Given the description of an element on the screen output the (x, y) to click on. 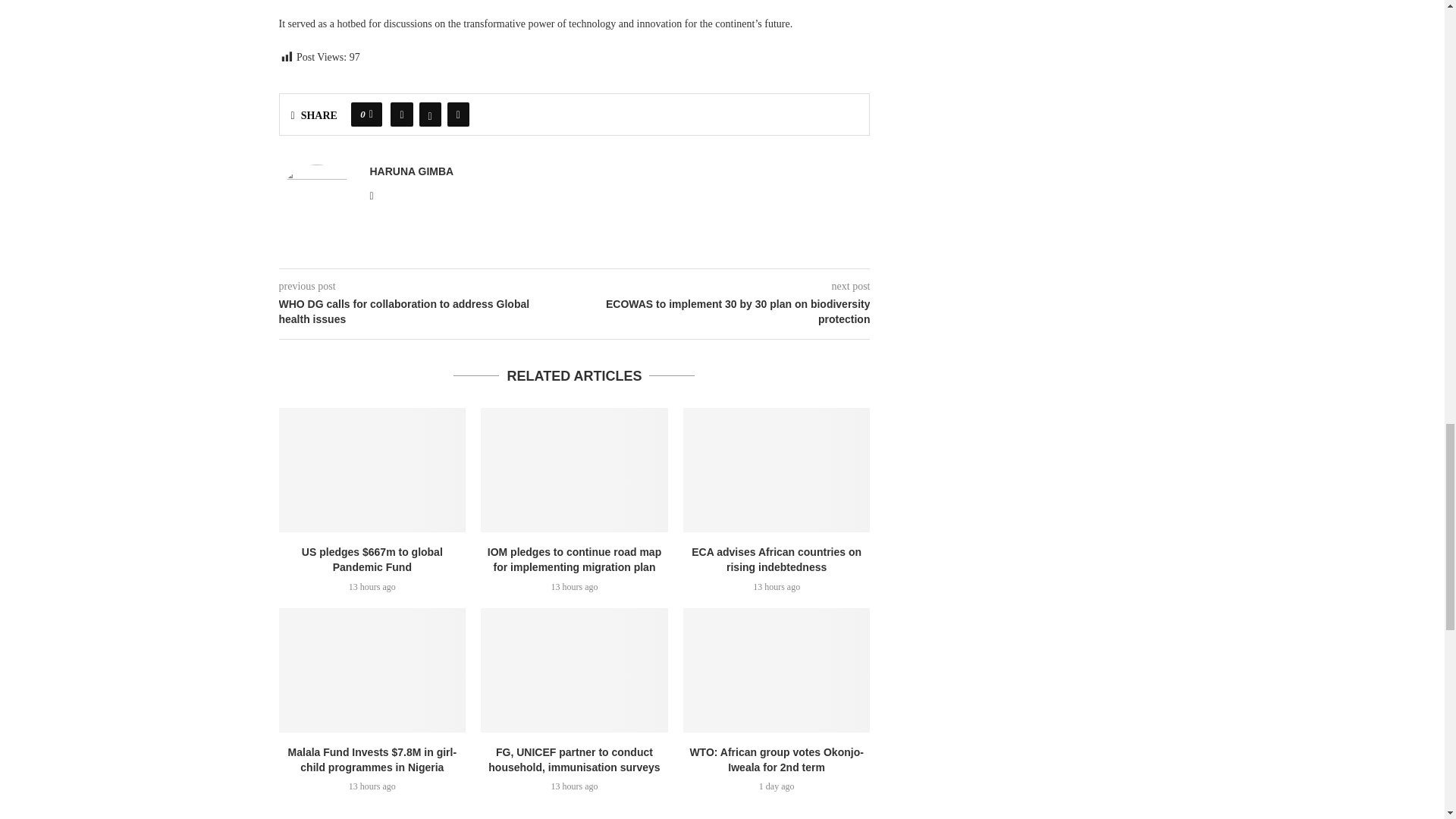
ECA advises African countries on rising indebtedness (776, 469)
Author Haruna Gimba (411, 171)
WTO: African group votes Okonjo-Iweala for 2nd term (776, 670)
